Given the description of an element on the screen output the (x, y) to click on. 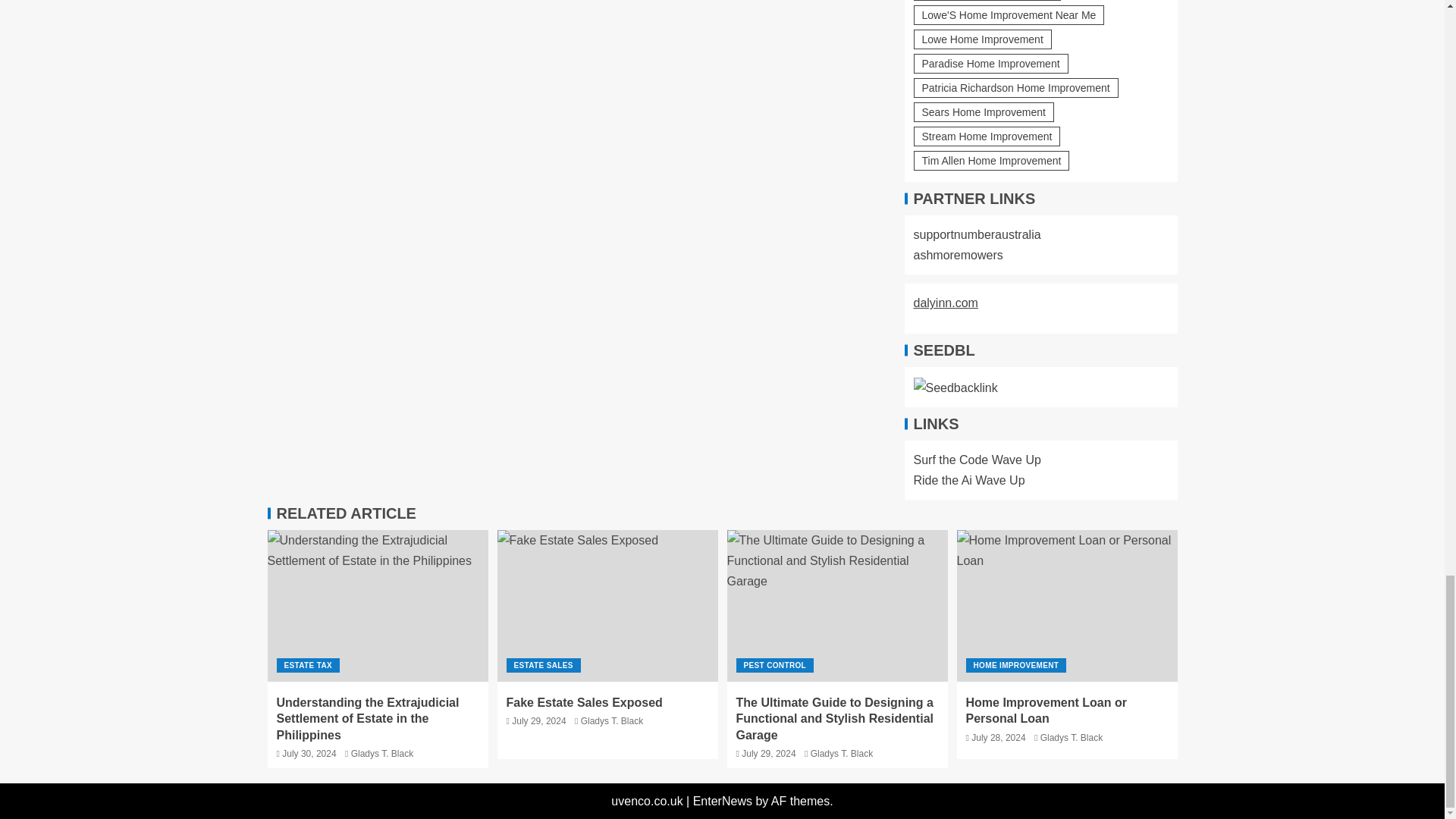
Seedbacklink (954, 387)
Fake Estate Sales Exposed (607, 605)
